Given the description of an element on the screen output the (x, y) to click on. 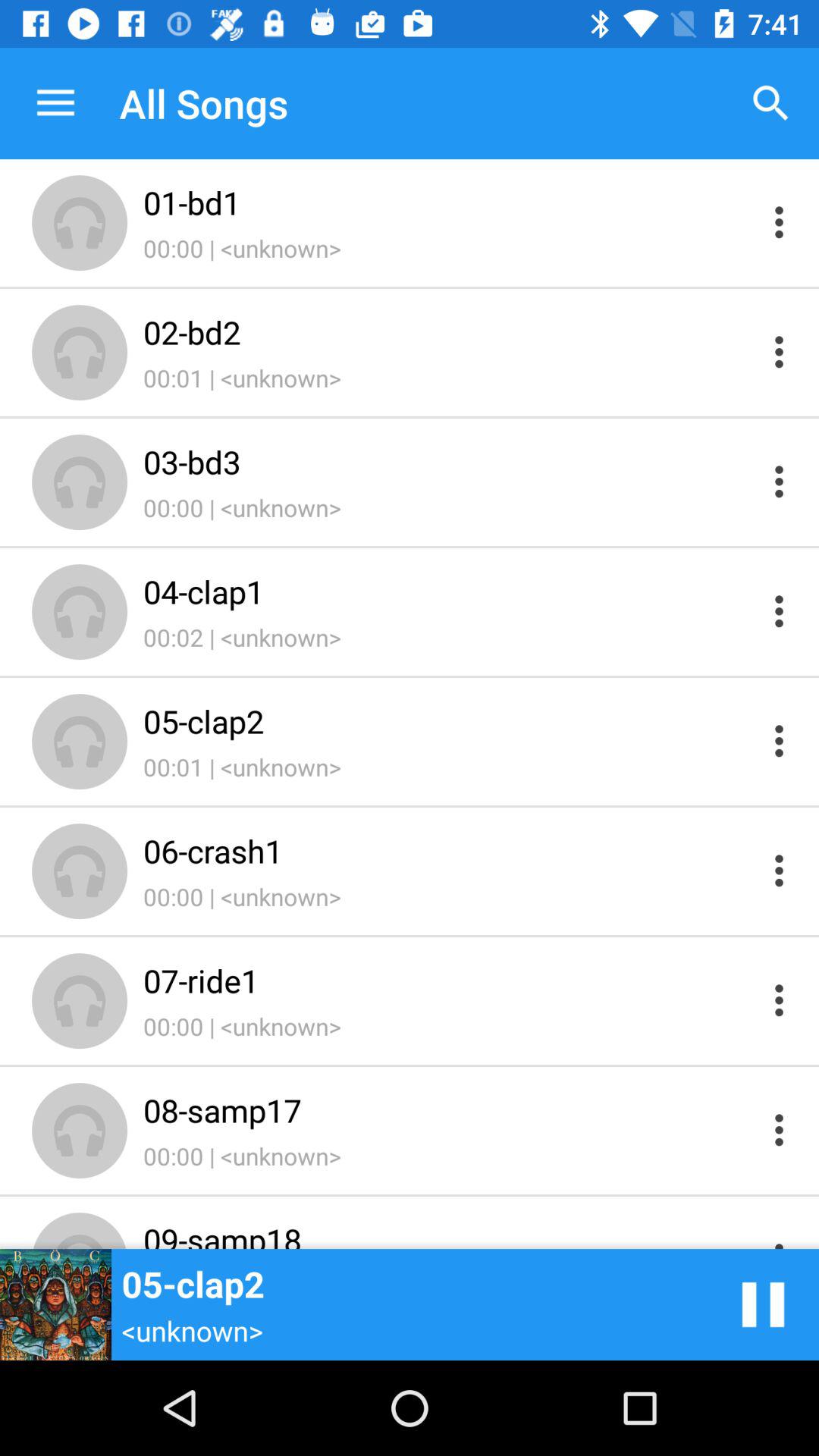
turn off the icon to the right of the 06-crash1 item (763, 1304)
